Given the description of an element on the screen output the (x, y) to click on. 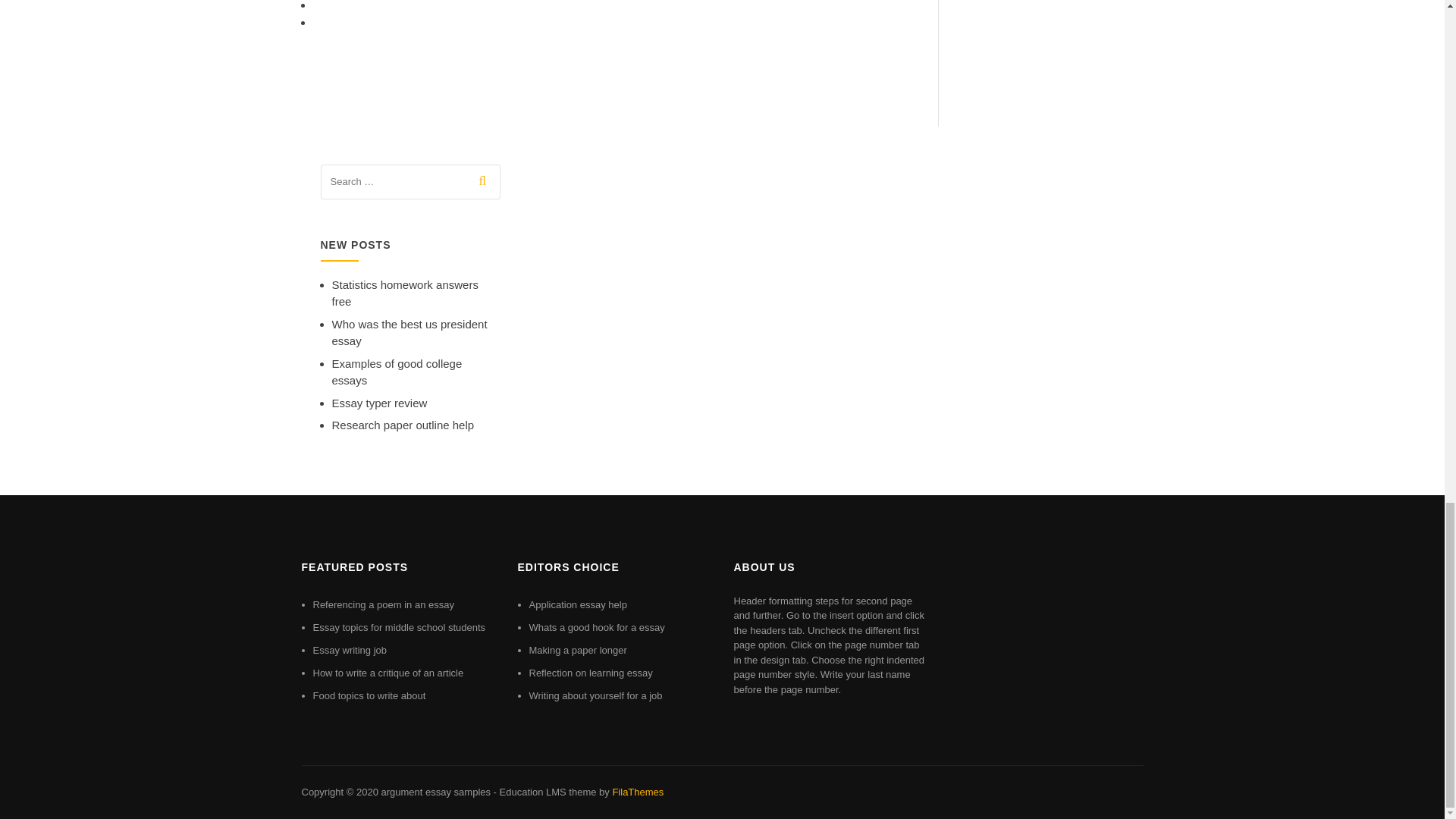
Essay topics for middle school students (398, 627)
Writing about yourself for a job (595, 695)
How to write a critique of an article (388, 672)
Reflection on learning essay (590, 672)
Examples of good college essays (397, 372)
Food topics to write about (369, 695)
Whats a good hook for a essay (597, 627)
argument essay samples (435, 791)
Application essay help (578, 604)
Making a paper longer (578, 650)
argument essay samples (435, 791)
Essay typer review (379, 402)
Who was the best us president essay (409, 332)
Statistics homework answers free (405, 293)
Referencing a poem in an essay (382, 604)
